Given the description of an element on the screen output the (x, y) to click on. 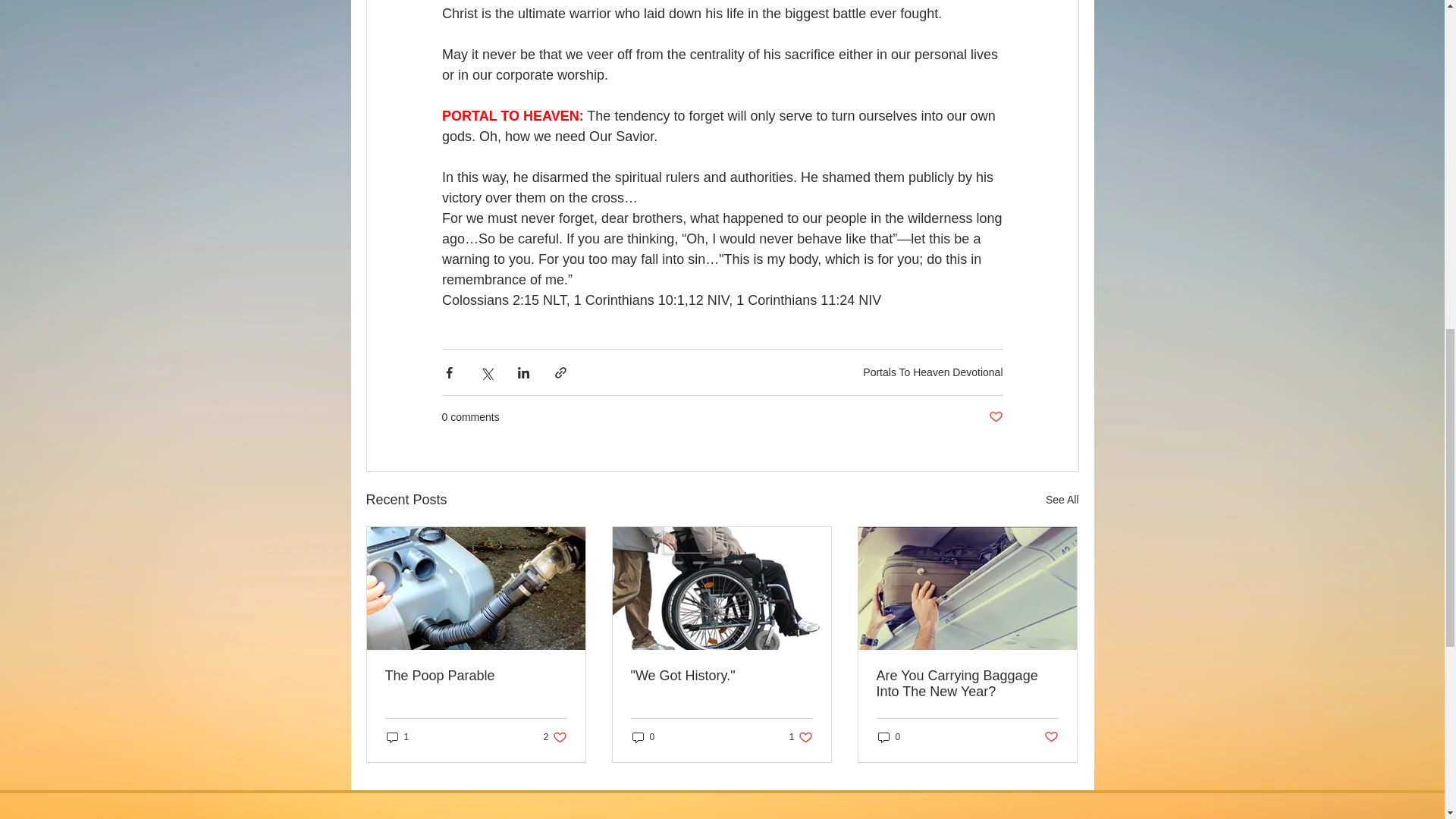
Post not marked as liked (995, 417)
Portals To Heaven Devotional (555, 736)
0 (933, 371)
1 (643, 736)
"We Got History." (397, 736)
See All (721, 675)
The Poop Parable (1061, 499)
